Given the description of an element on the screen output the (x, y) to click on. 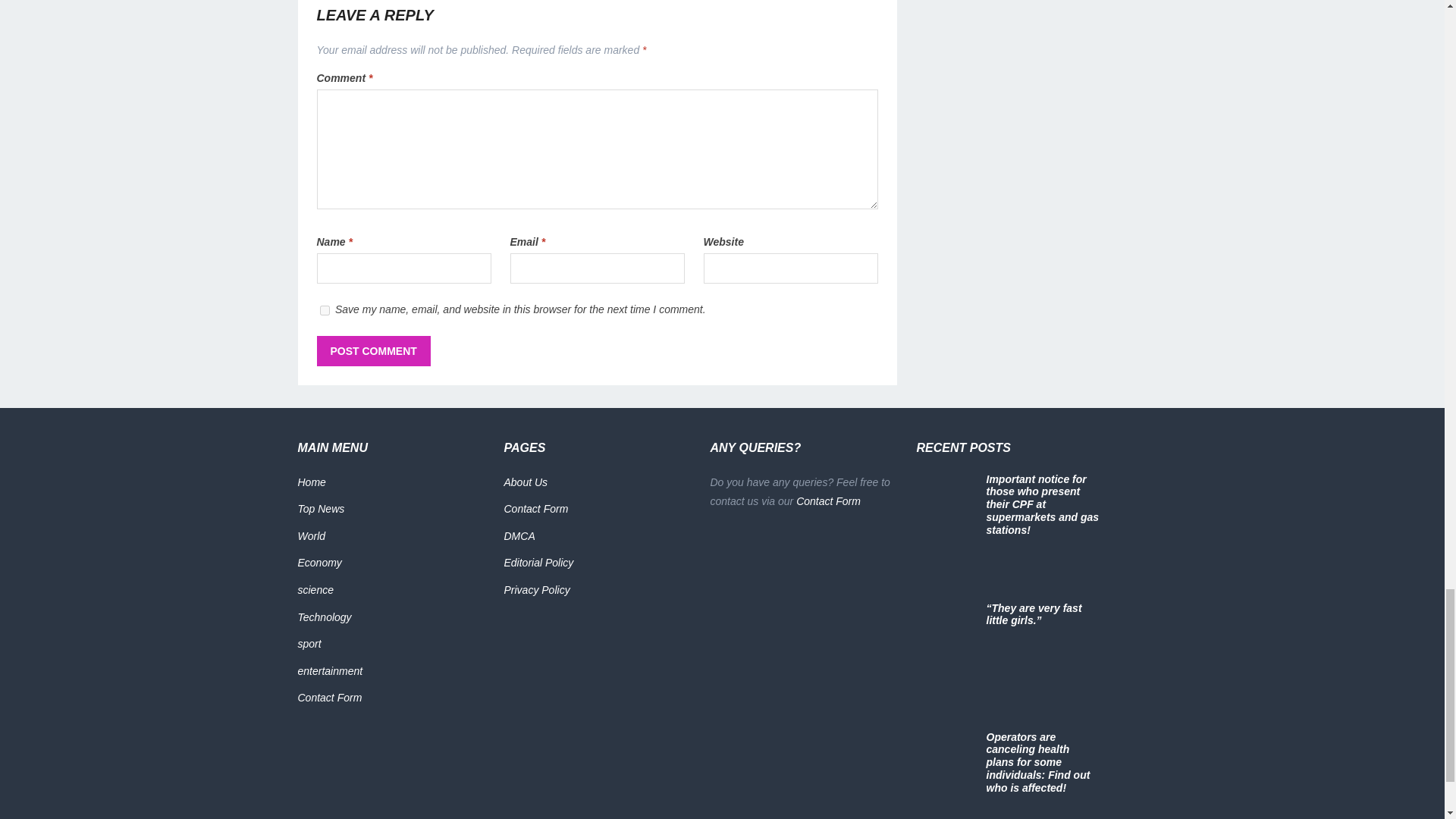
Post Comment (373, 350)
yes (325, 310)
